Given the description of an element on the screen output the (x, y) to click on. 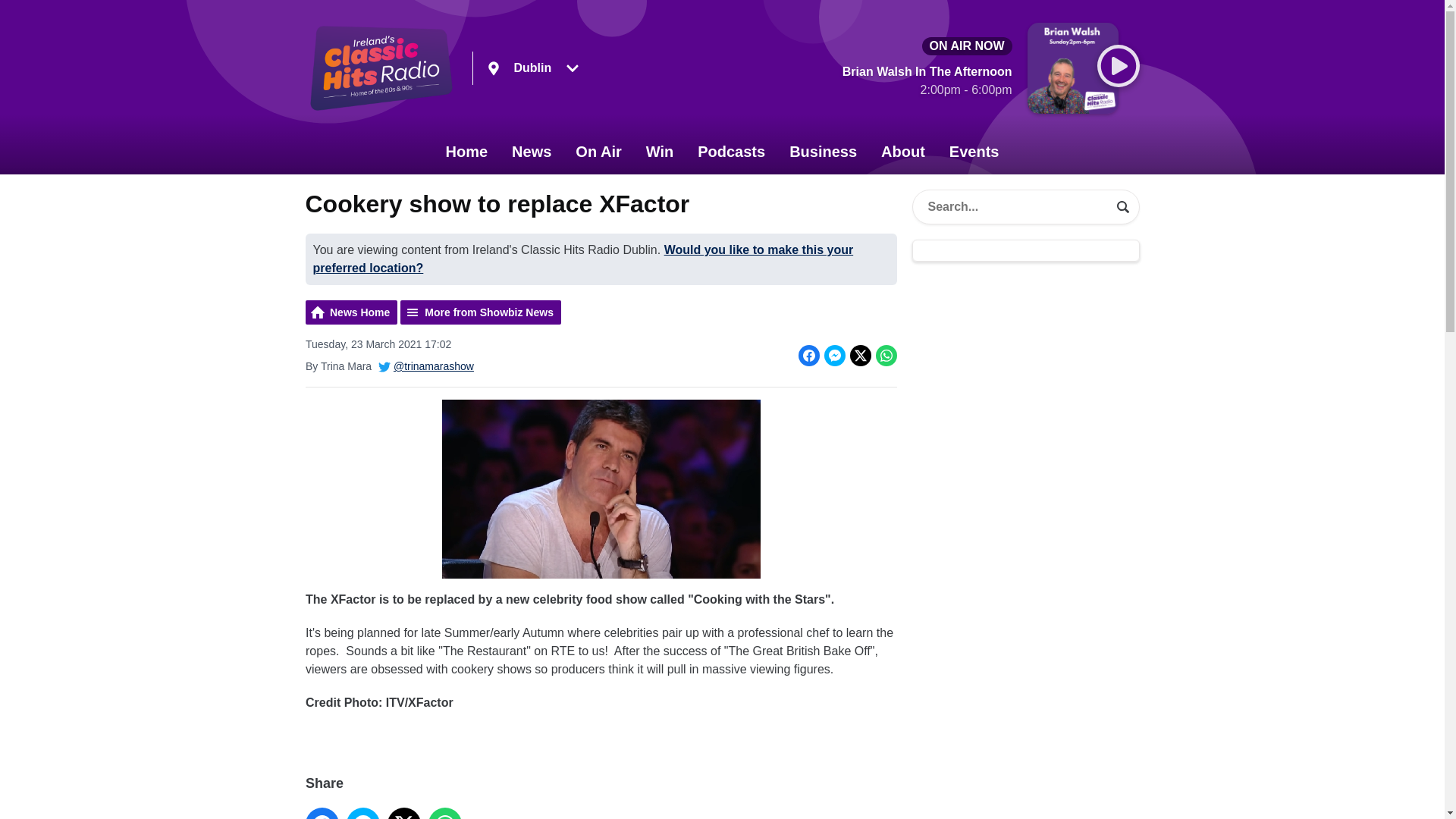
Win (659, 151)
Brian Walsh In The Afternoon (927, 83)
On Air (598, 151)
Business (823, 151)
About (903, 151)
Home (466, 151)
News (531, 151)
Dublin (532, 68)
Podcasts (731, 151)
